Given the description of an element on the screen output the (x, y) to click on. 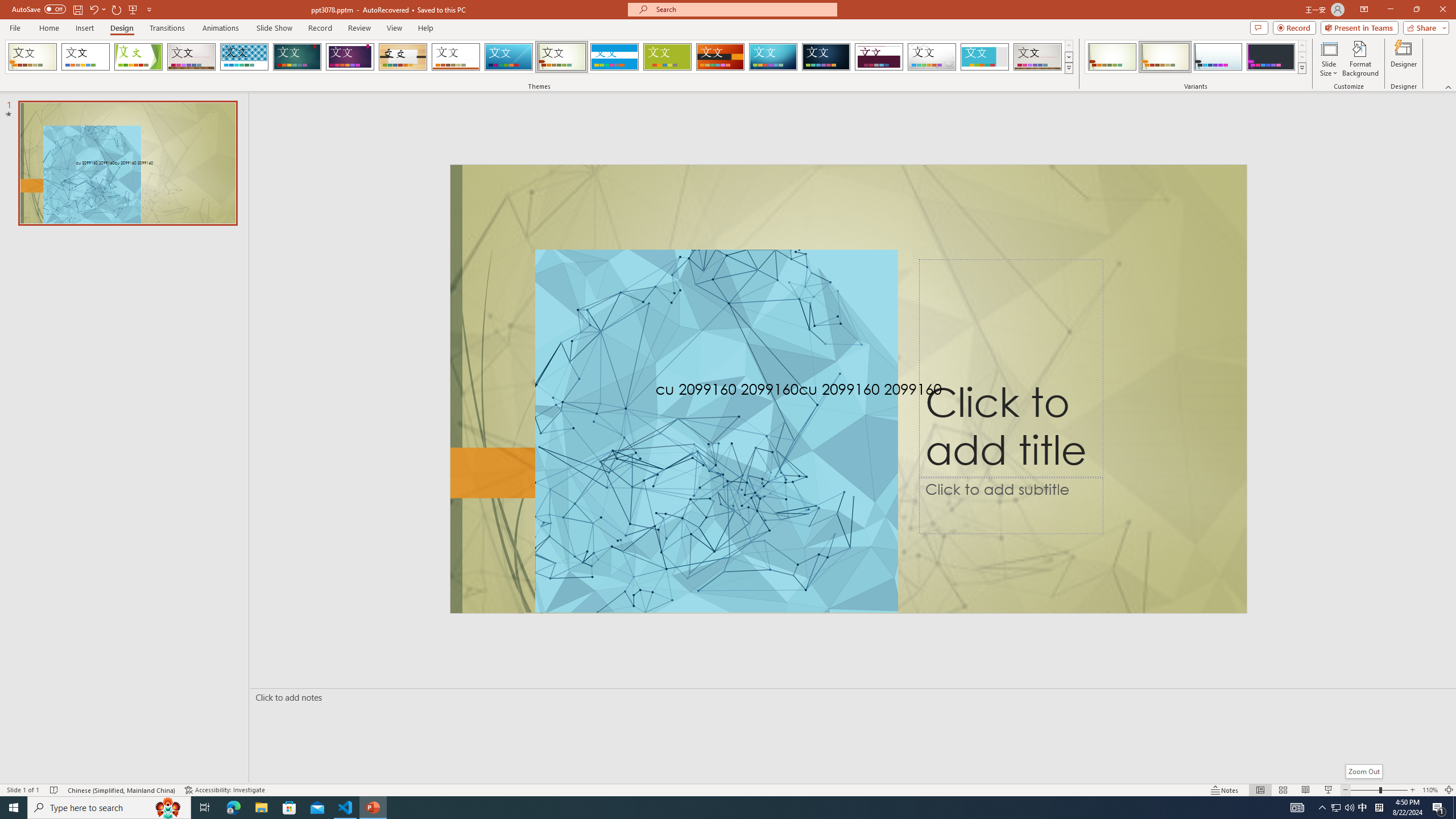
AutomationID: ThemeVariantsGallery (1195, 56)
Retrospect Loading Preview... (455, 56)
Themes (1068, 67)
Gallery (191, 56)
Format Background (1360, 58)
